Given the description of an element on the screen output the (x, y) to click on. 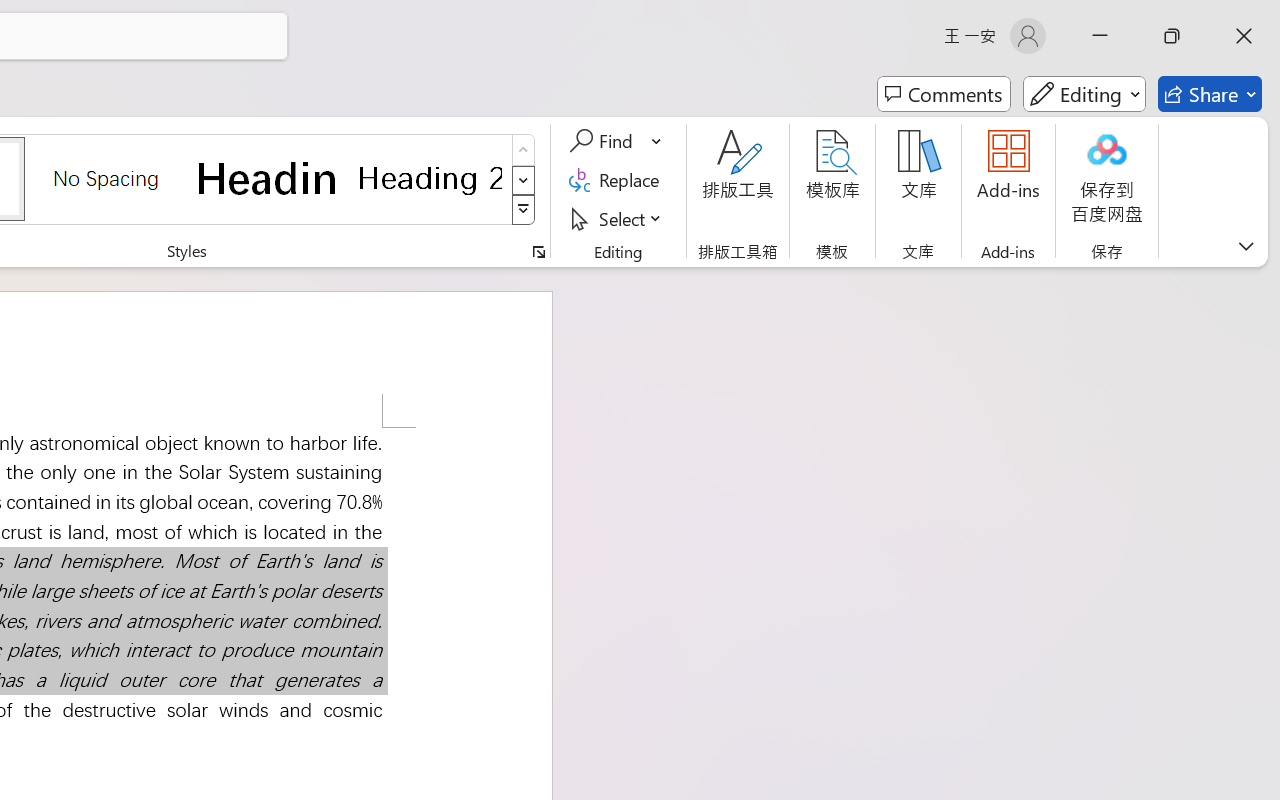
Home (866, 299)
Ribbon Display Options (1118, 18)
Restore Down (1210, 18)
Search (1089, 297)
Previous page (841, 299)
Minimize (1164, 18)
Share (1223, 54)
Close this message (1263, 195)
Close (1256, 18)
Collapse the Ribbon (1267, 170)
Task Pane Options (1224, 243)
Close pane (1256, 243)
Page up (806, 410)
